Given the description of an element on the screen output the (x, y) to click on. 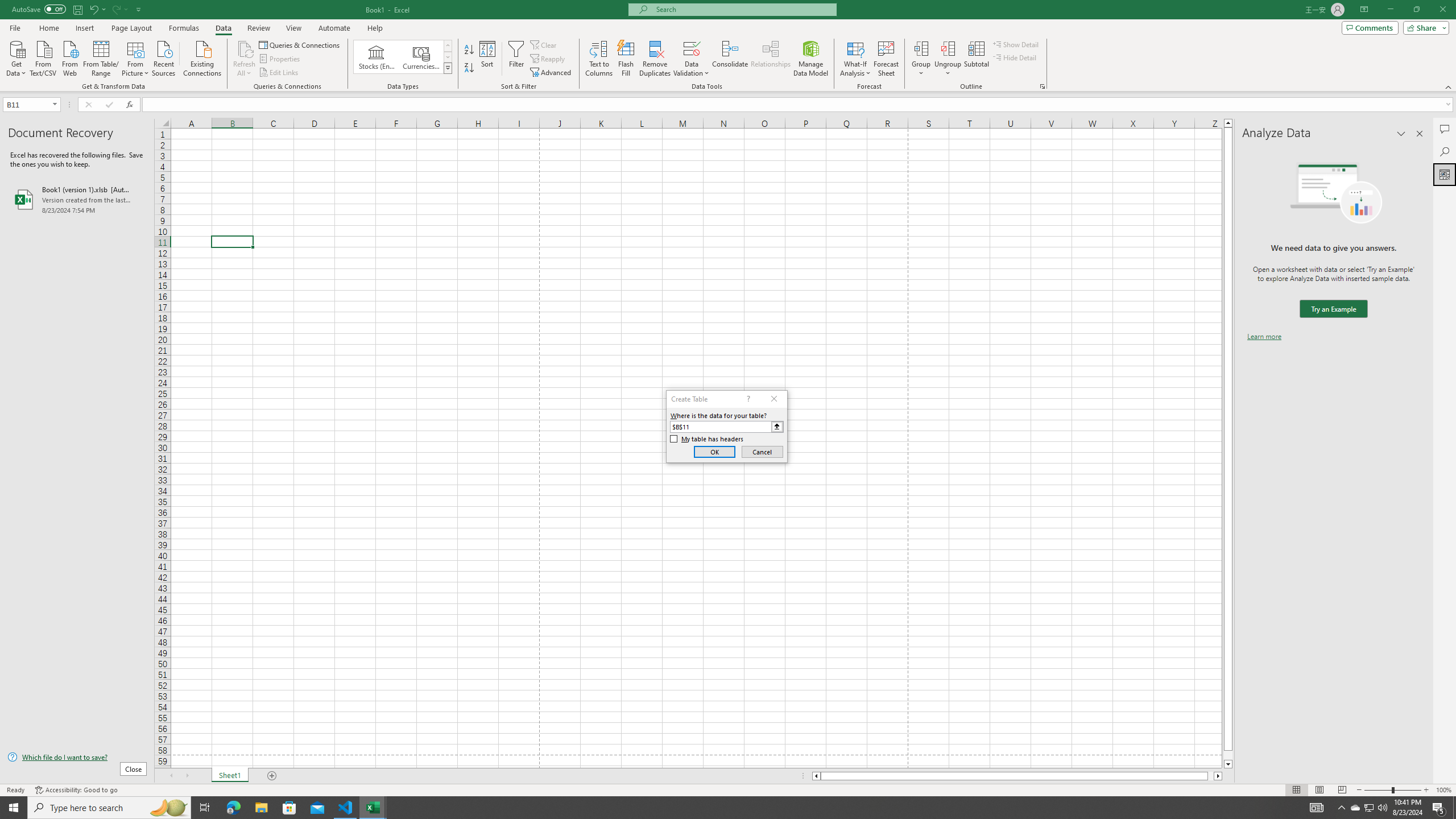
Text to Columns... (598, 58)
Relationships (770, 58)
From Picture (135, 57)
Reapply (548, 58)
